Given the description of an element on the screen output the (x, y) to click on. 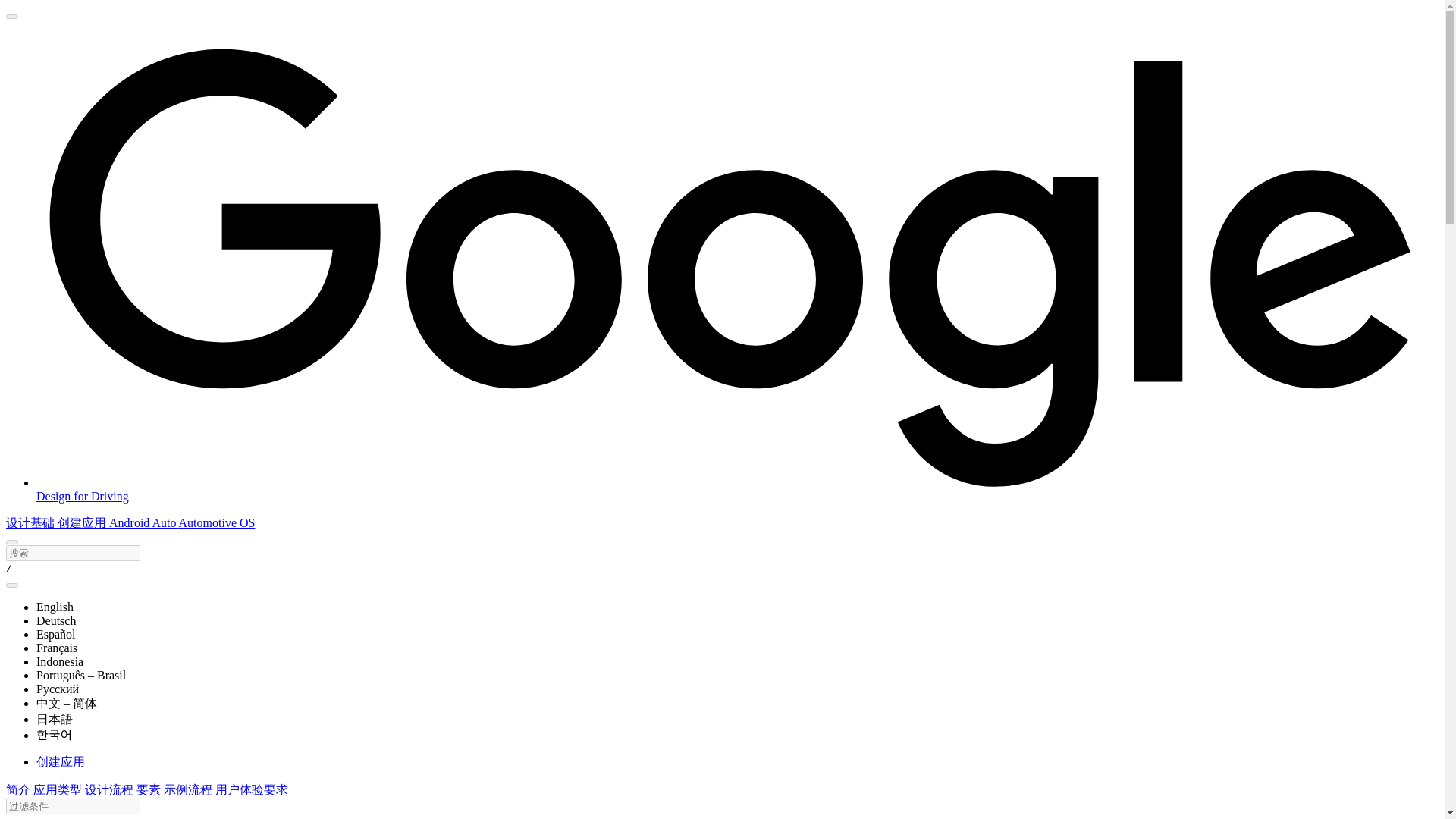
English (55, 606)
Automotive OS (217, 522)
Android Auto (144, 522)
Indonesia (59, 661)
Deutsch (55, 620)
